Given the description of an element on the screen output the (x, y) to click on. 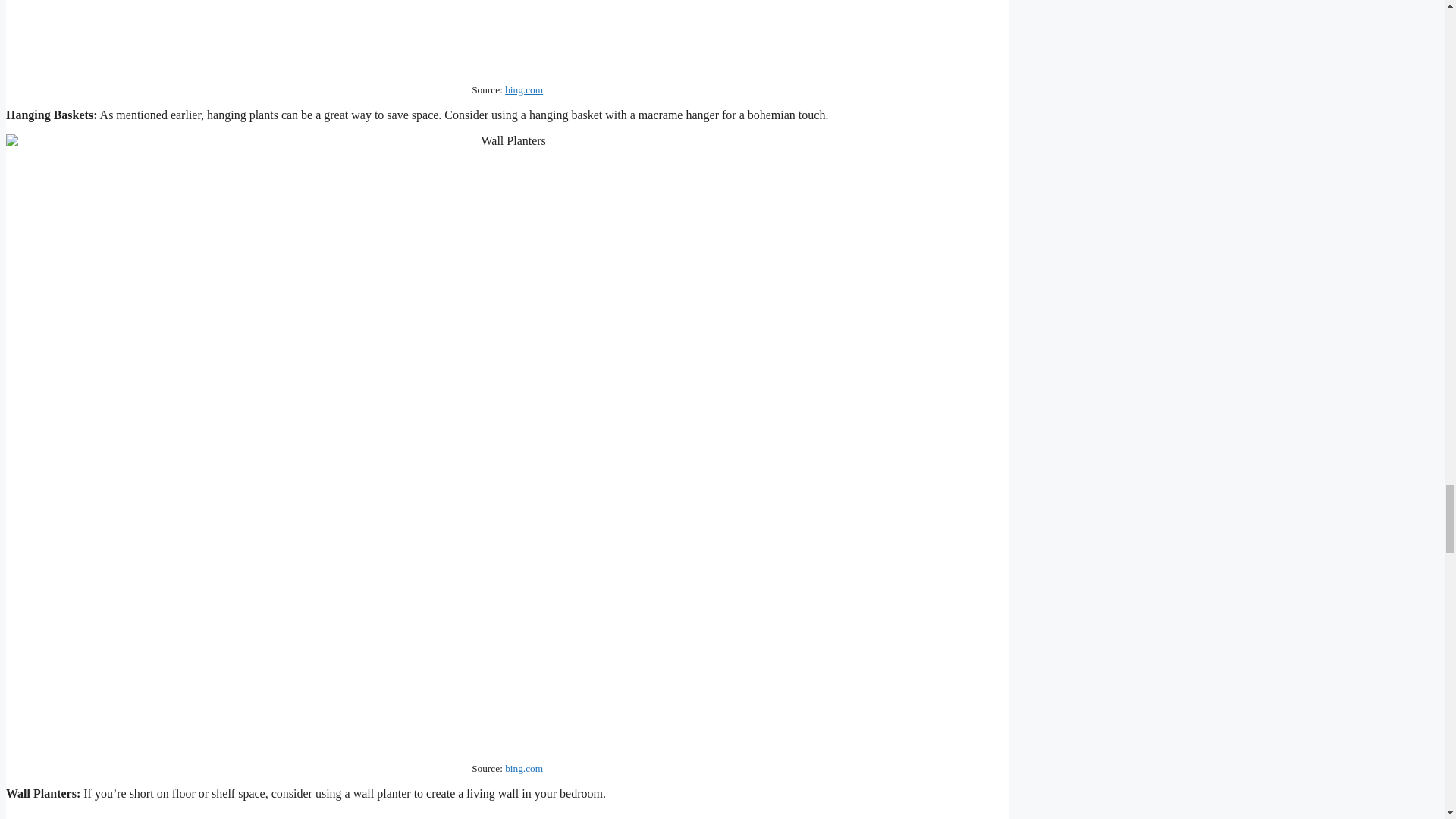
bing.com (524, 89)
bing.com (524, 767)
